Given the description of an element on the screen output the (x, y) to click on. 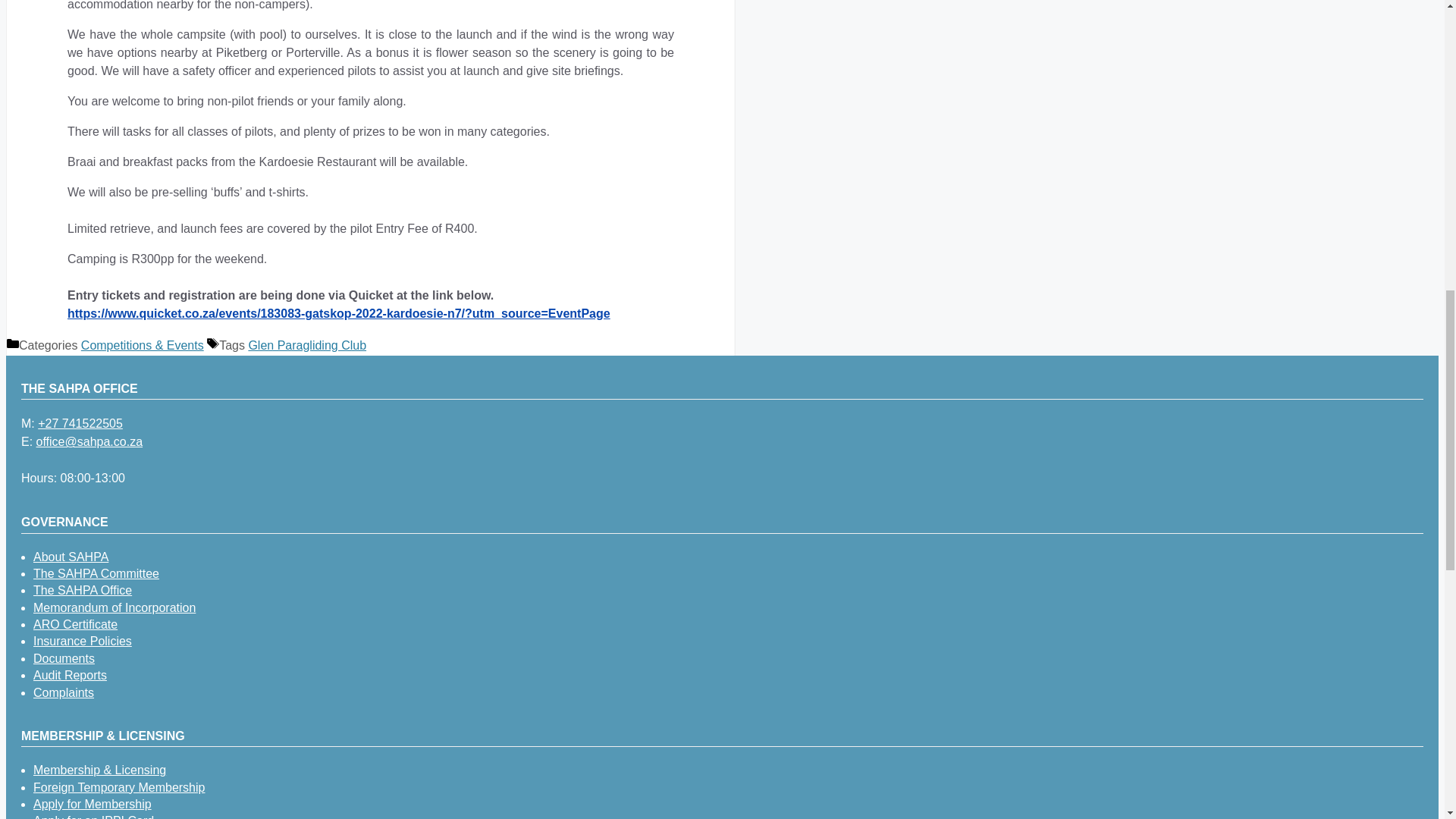
Glen Paragliding Club (306, 345)
Scroll back to top (1406, 720)
